Given the description of an element on the screen output the (x, y) to click on. 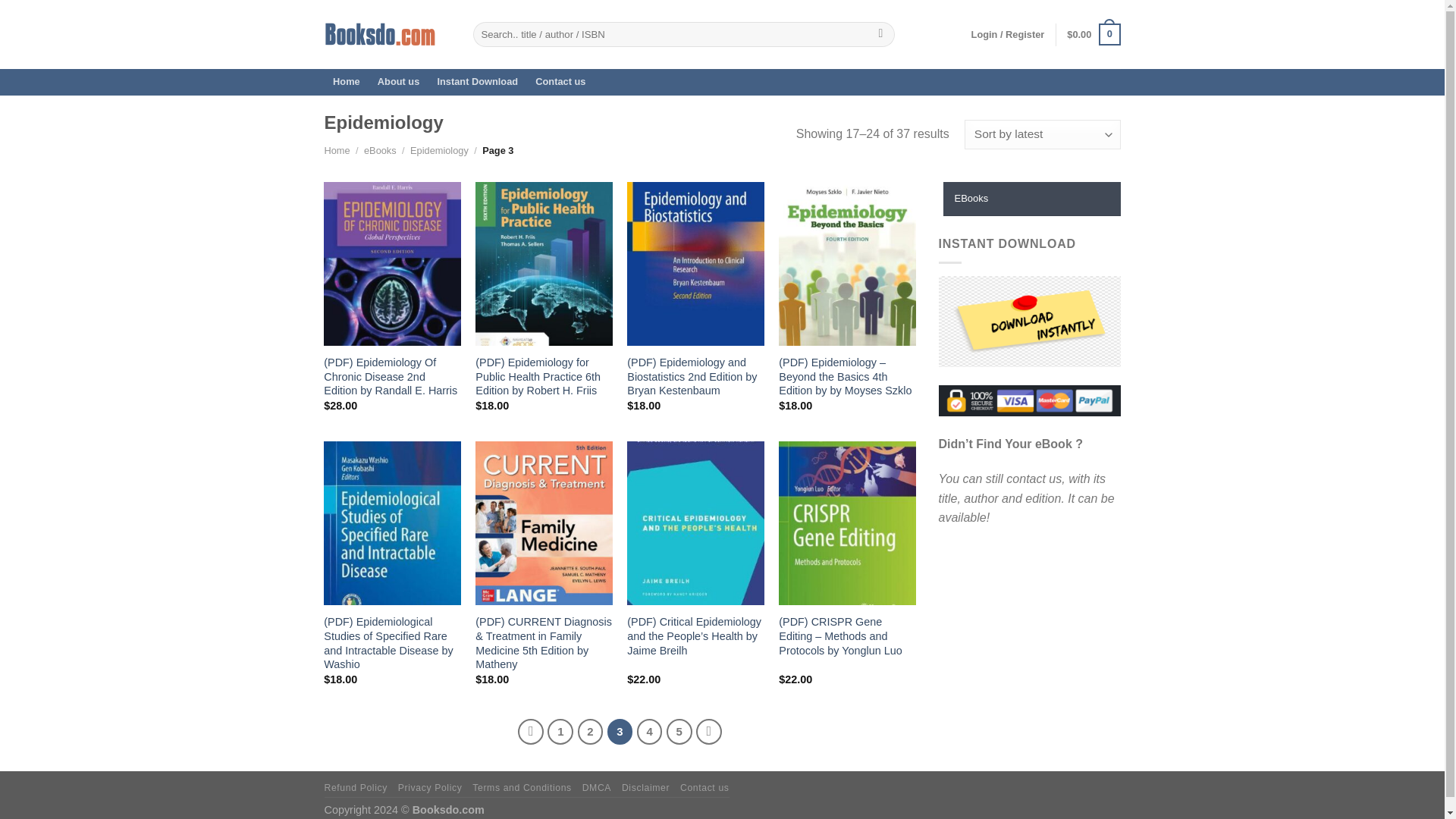
EBooks (1032, 198)
Home (337, 150)
5 (679, 731)
4 (649, 731)
Cart (1093, 34)
eBooks (380, 150)
About us (398, 81)
Home (346, 81)
Instant Download (477, 81)
